Given the description of an element on the screen output the (x, y) to click on. 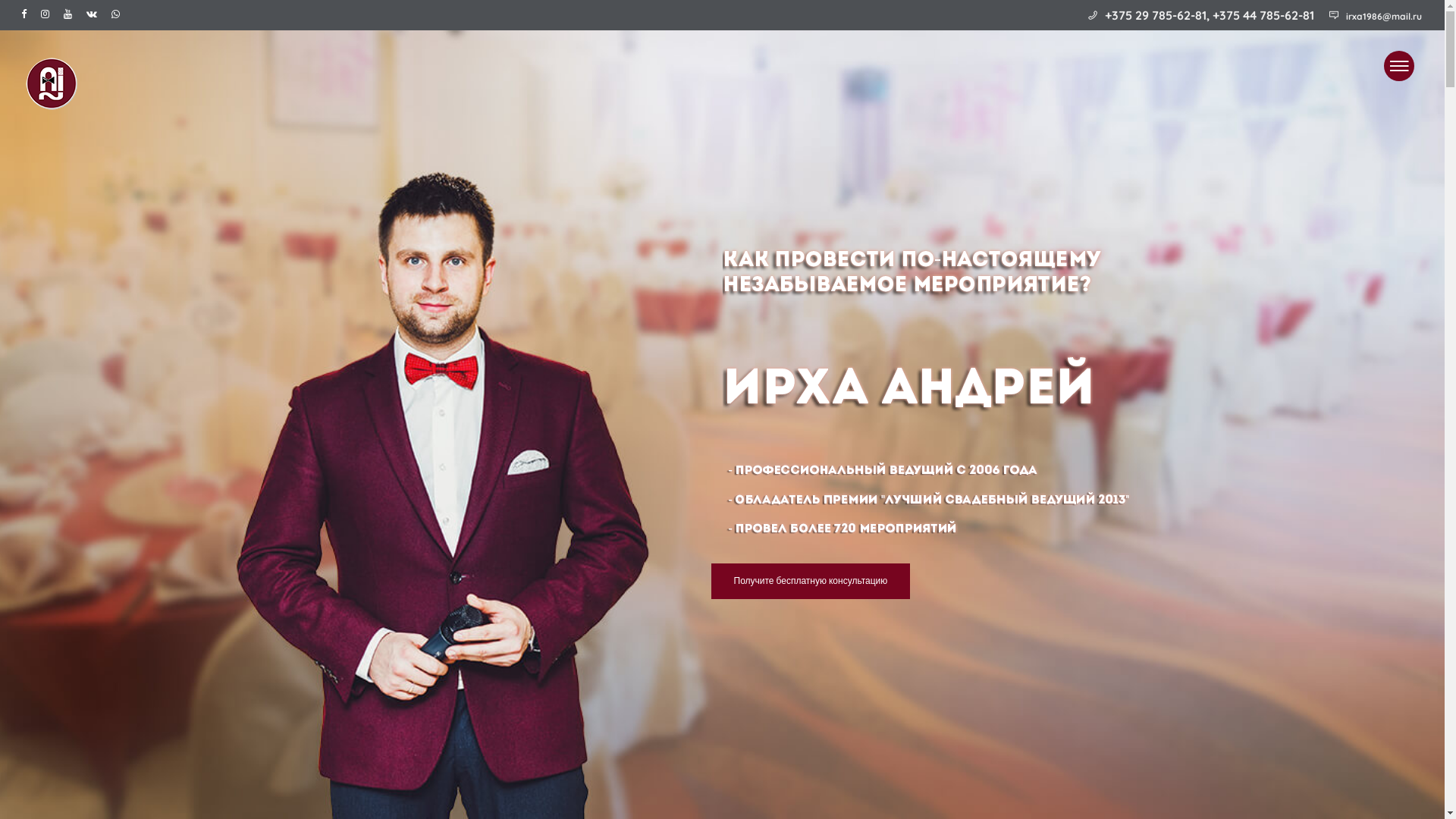
Facebook Element type: hover (27, 12)
Youtube Element type: hover (70, 12)
irxa1986@mail.ru Element type: text (1383, 15)
Instagram Element type: hover (48, 12)
Whatsapp Element type: hover (118, 12)
Vk Element type: hover (94, 12)
